Given the description of an element on the screen output the (x, y) to click on. 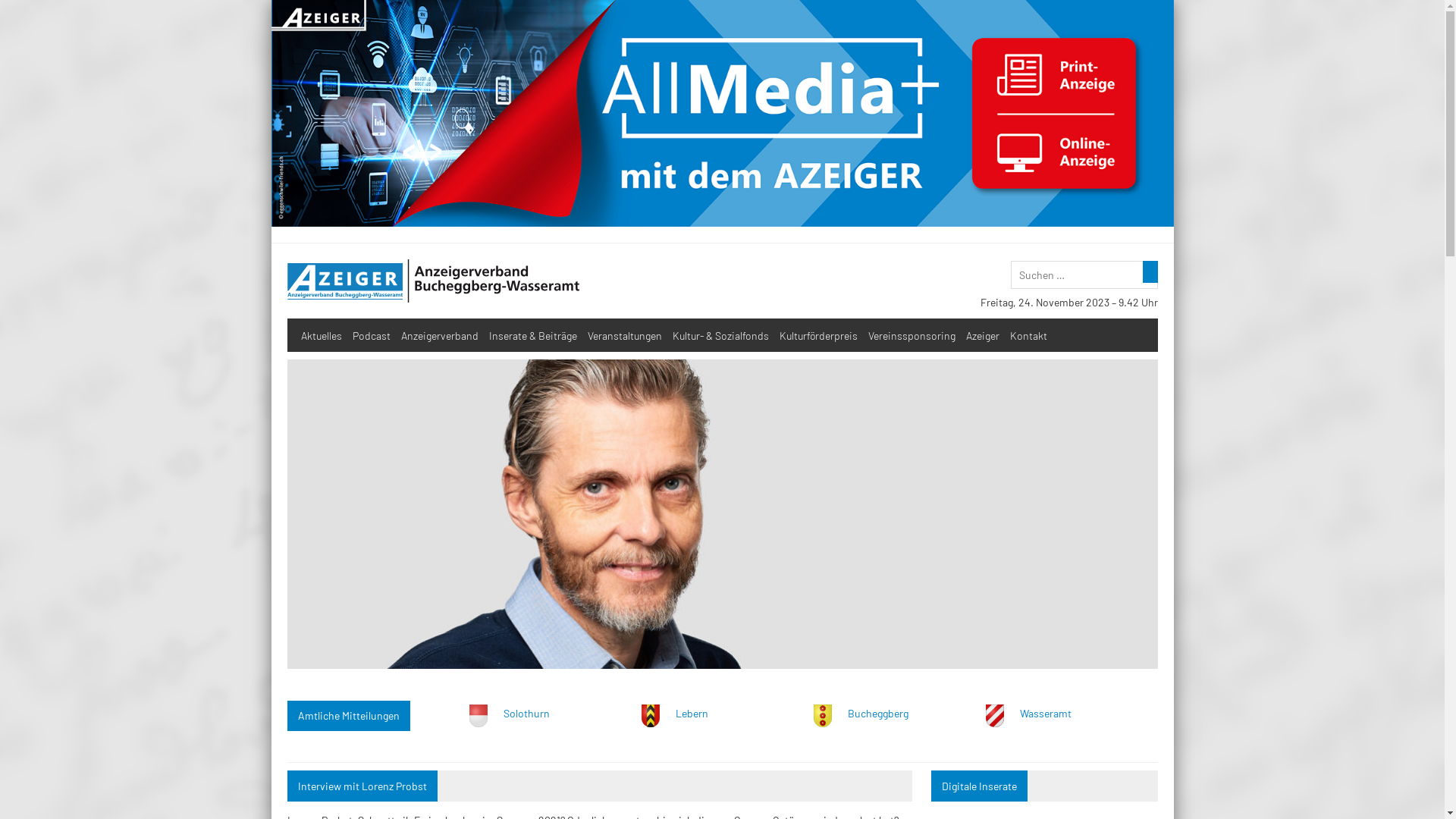
Vereinssponsoring Element type: text (911, 334)
Kontakt Element type: text (1028, 334)
Kultur- & Sozialfonds Element type: text (720, 334)
Skip to content Element type: text (271, 0)
Solothurn Element type: text (526, 712)
Azeiger Element type: text (982, 334)
Aktuelles Element type: text (321, 334)
Bucheggberg Element type: text (877, 712)
Veranstaltungen Element type: text (624, 334)
Podcast Element type: text (371, 334)
Lebern Element type: text (690, 712)
Anzeigerverband Element type: text (439, 334)
Wasseramt Element type: text (1044, 712)
